Given the description of an element on the screen output the (x, y) to click on. 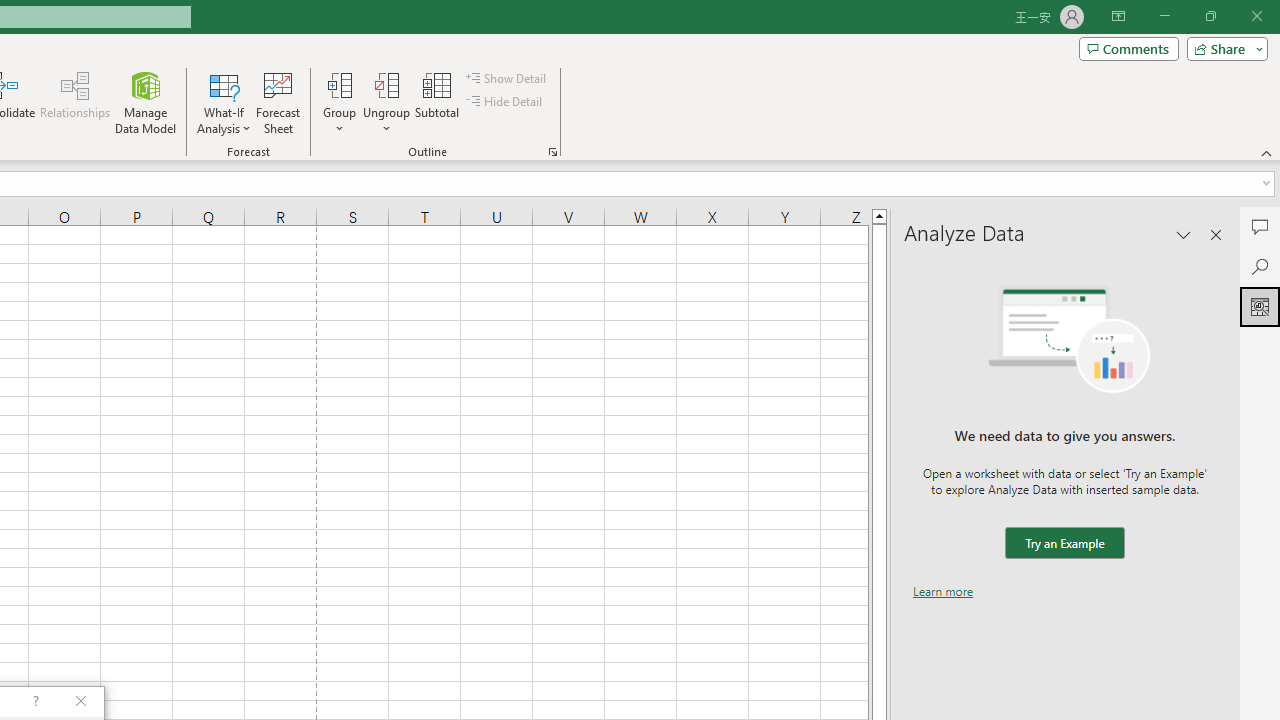
Task Pane Options (1183, 234)
We need data to give you answers. Try an Example (1064, 543)
Analyze Data (1260, 306)
Ungroup... (386, 102)
Close pane (1215, 234)
Hide Detail (505, 101)
Restore Down (1210, 16)
Group... (339, 102)
Forecast Sheet (278, 102)
Relationships (75, 102)
Ungroup... (386, 84)
